Given the description of an element on the screen output the (x, y) to click on. 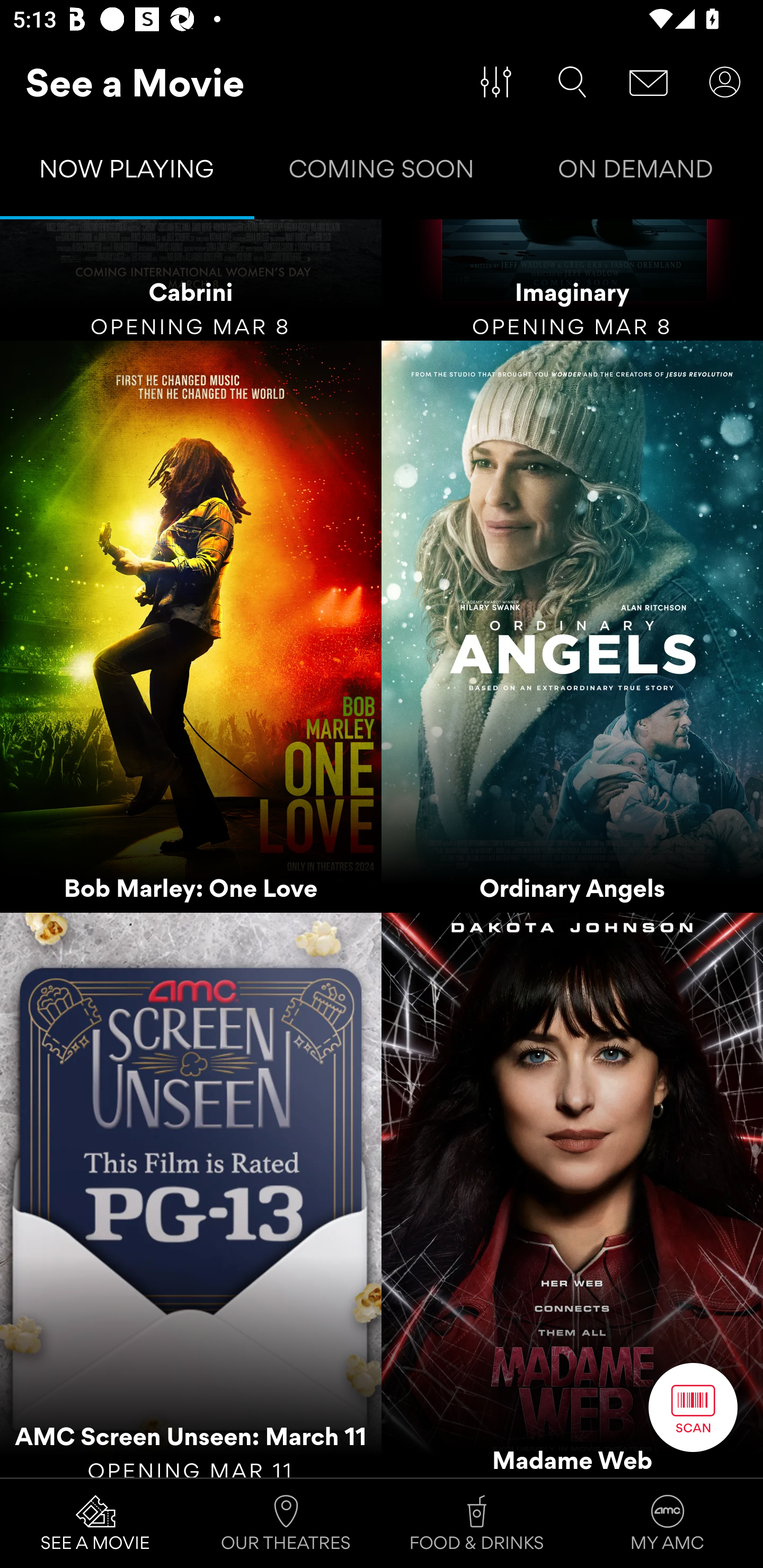
Filter Movies (495, 82)
Search (572, 82)
Message Center (648, 82)
User Account (724, 82)
NOW PLAYING
Tab 1 of 3 (127, 173)
COMING SOON
Tab 2 of 3 (381, 173)
ON DEMAND
Tab 3 of 3 (635, 173)
Cabrini
OPENING MAR 8 (190, 279)
Imaginary
OPENING MAR 8 (572, 279)
Bob Marley: One Love (190, 626)
Ordinary Angels (572, 626)
AMC Screen Unseen: March 11
OPENING MAR 11 (190, 1194)
Madame Web (572, 1194)
Scan Button (692, 1406)
SEE A MOVIE
Tab 1 of 4 (95, 1523)
OUR THEATRES
Tab 2 of 4 (285, 1523)
FOOD & DRINKS
Tab 3 of 4 (476, 1523)
MY AMC
Tab 4 of 4 (667, 1523)
